Given the description of an element on the screen output the (x, y) to click on. 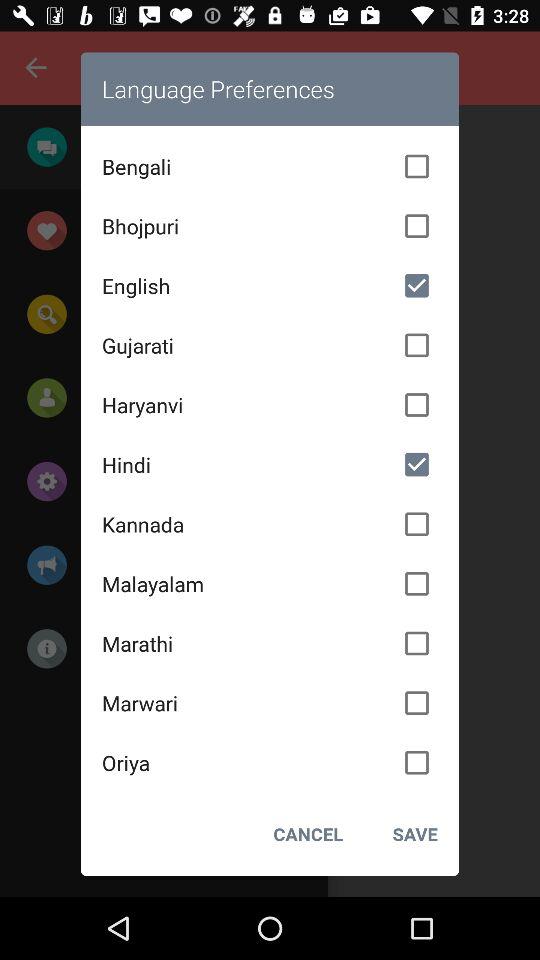
flip until english icon (270, 285)
